Given the description of an element on the screen output the (x, y) to click on. 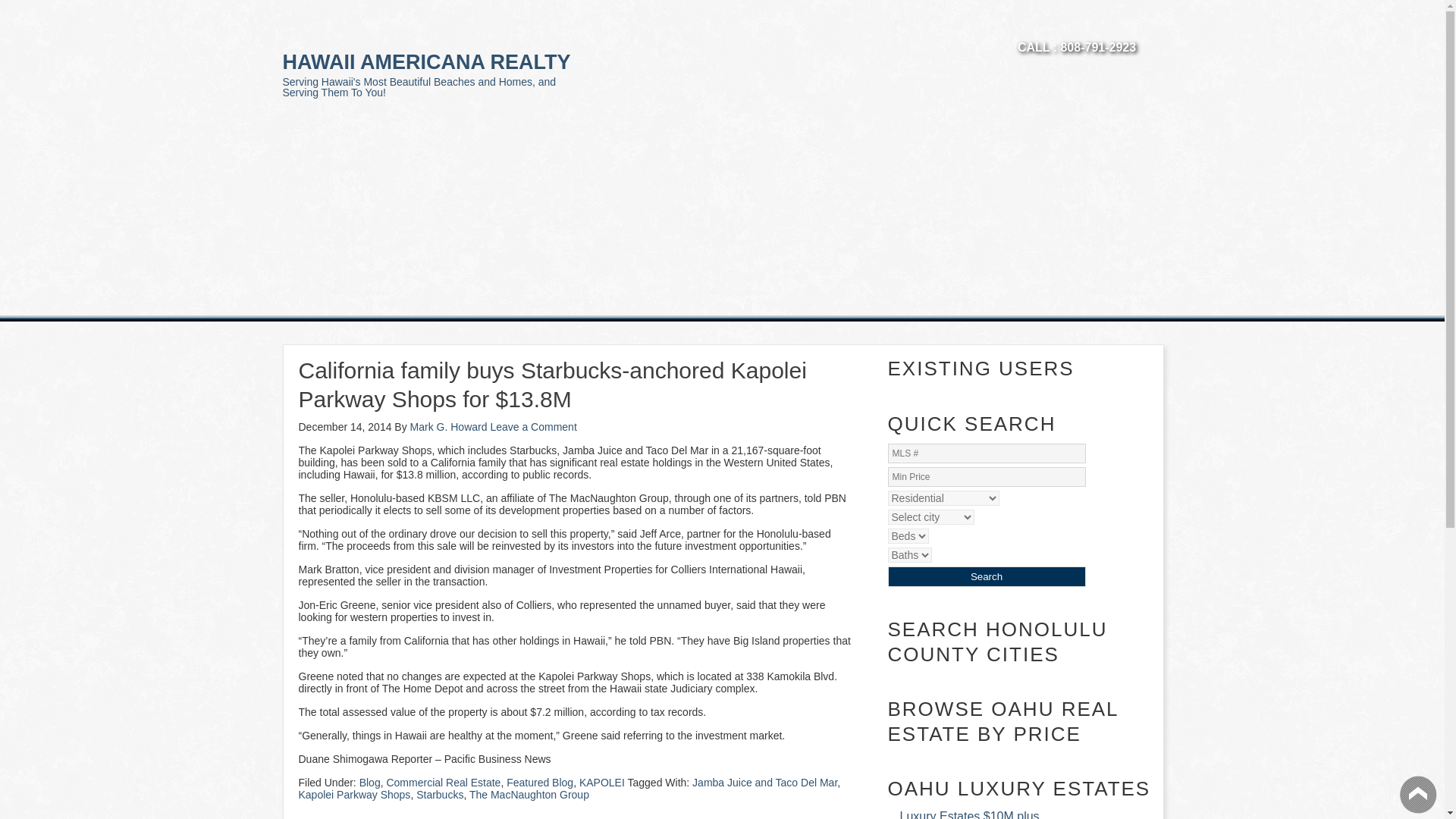
LinkedIn (1144, 26)
Search (985, 576)
Blog (369, 782)
Facebook (1075, 26)
808-791-2923 (1097, 47)
Mark G. Howard (448, 426)
Commercial Real Estate (442, 782)
Featured Blog (539, 782)
Twitter (1043, 26)
KAPOLEI (601, 782)
Jamba Juice and Taco Del Mar (765, 782)
Search (985, 576)
The MacNaughton Group (528, 794)
Leave a Comment (532, 426)
